Given the description of an element on the screen output the (x, y) to click on. 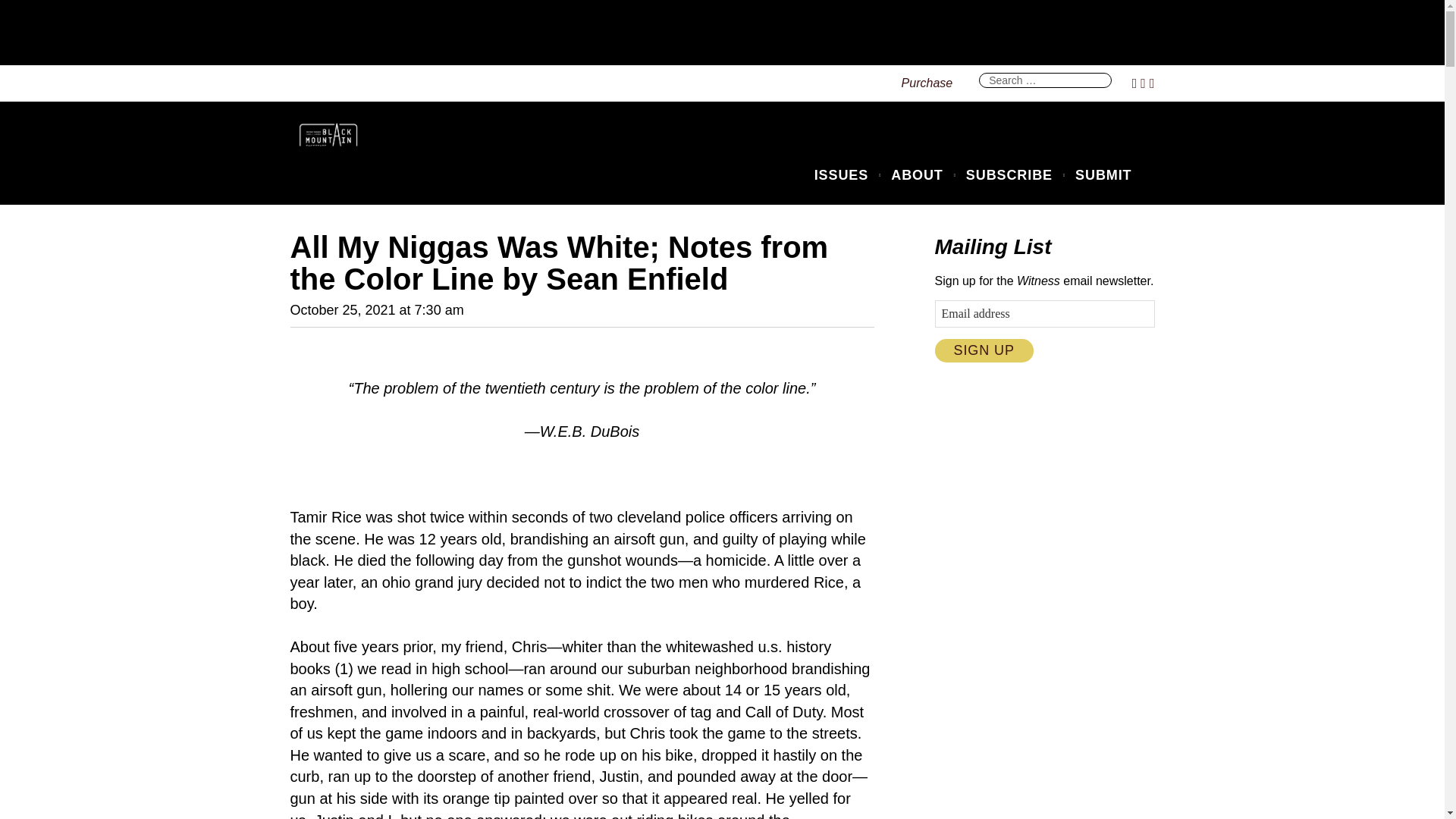
ABOUT (920, 175)
Search for: (1045, 79)
Search (968, 81)
Search (968, 81)
Sign Up (983, 350)
Sign Up (983, 350)
SUBMIT (1099, 175)
SUBSCRIBE (1012, 175)
ISSUES (845, 175)
Purchase (922, 82)
